Given the description of an element on the screen output the (x, y) to click on. 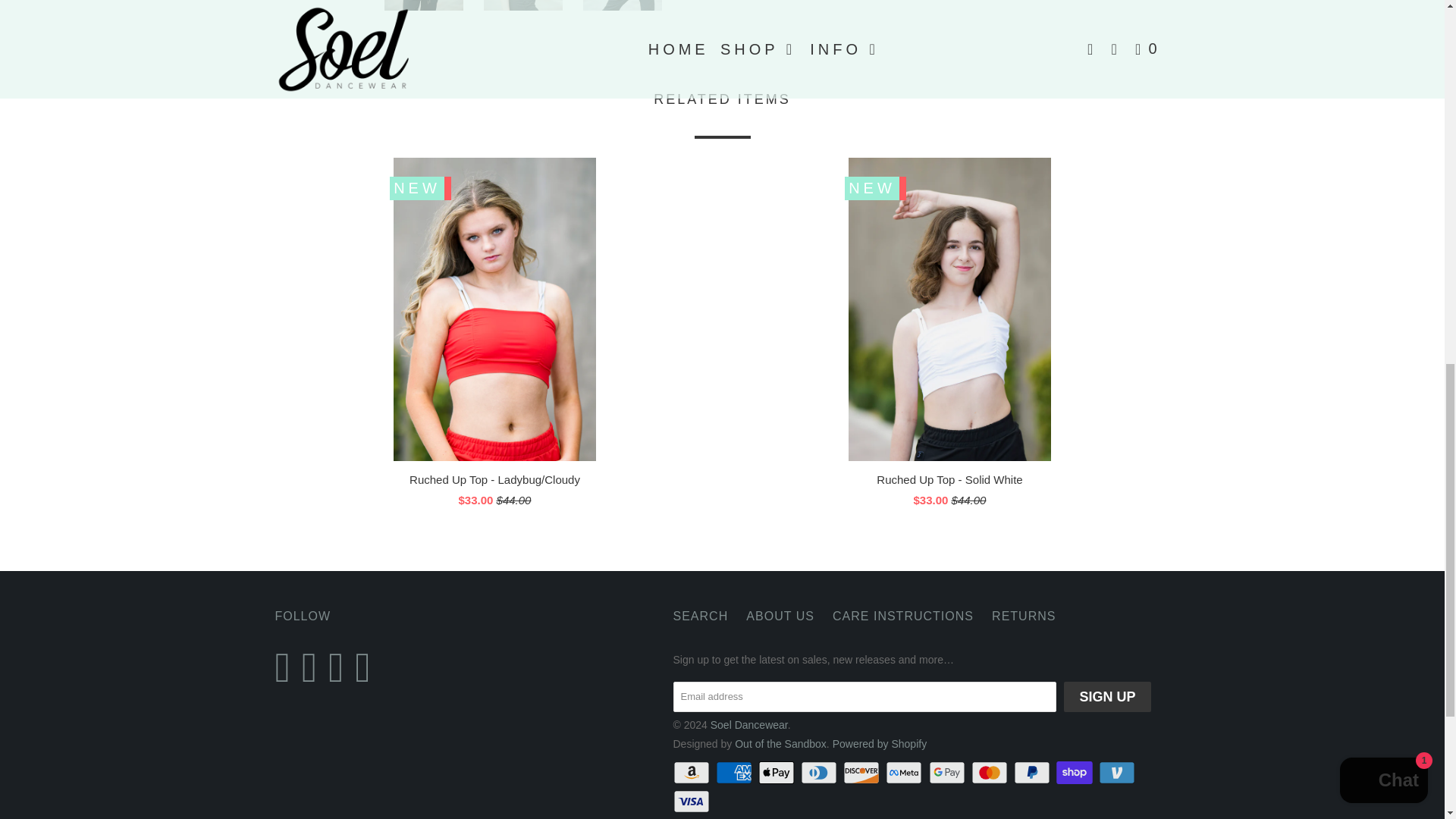
Shop Pay (1076, 772)
American Express (735, 772)
Diners Club (820, 772)
Google Pay (948, 772)
Apple Pay (777, 772)
Discover (862, 772)
Sign Up (1107, 696)
Mastercard (990, 772)
Visa (692, 801)
Venmo (1118, 772)
Amazon (692, 772)
Meta Pay (904, 772)
PayPal (1032, 772)
